Given the description of an element on the screen output the (x, y) to click on. 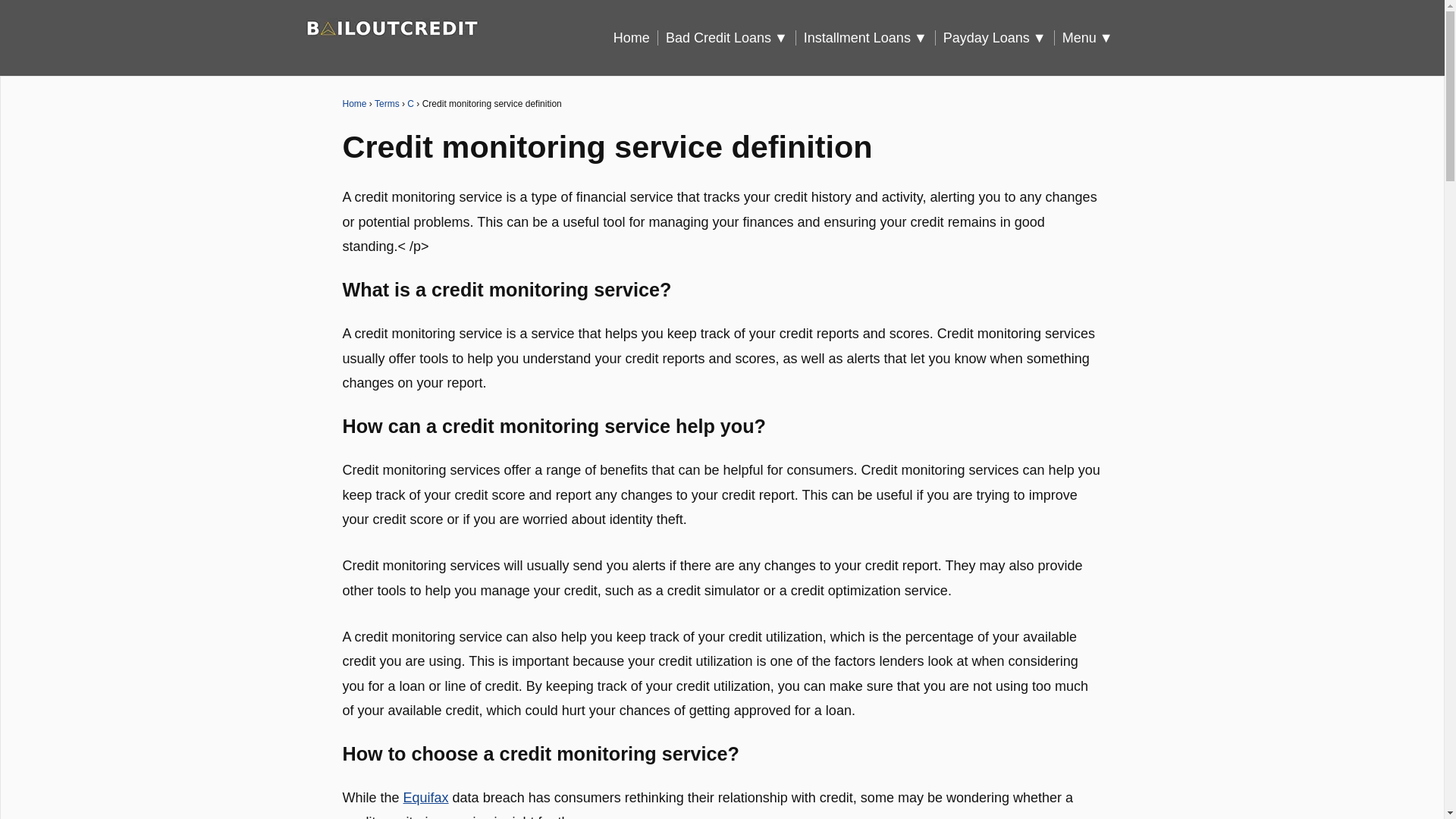
Menu (1091, 37)
Home (635, 37)
Installment Loans (869, 37)
Payday Loans (998, 37)
Menu (1091, 37)
Terms (386, 103)
Equifax (425, 797)
Installment Loans (869, 37)
Home (635, 37)
Home (354, 103)
Bad Credit Loans (730, 37)
Bad Credit Loans (730, 37)
Payday Loans (998, 37)
